Given the description of an element on the screen output the (x, y) to click on. 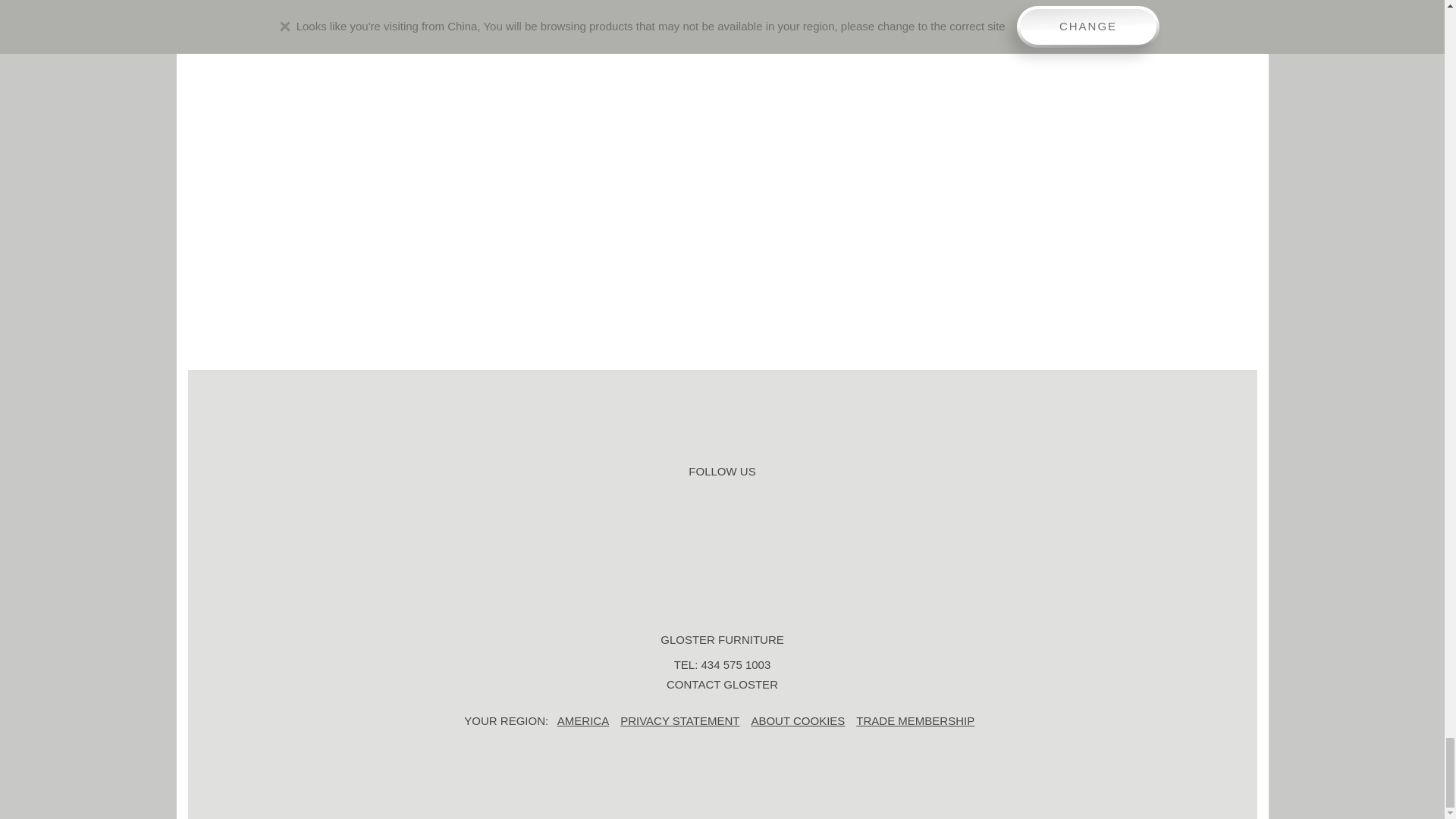
Facebook (632, 552)
Instagram (693, 552)
Other 1 (815, 552)
Pinterest (754, 552)
